Given the description of an element on the screen output the (x, y) to click on. 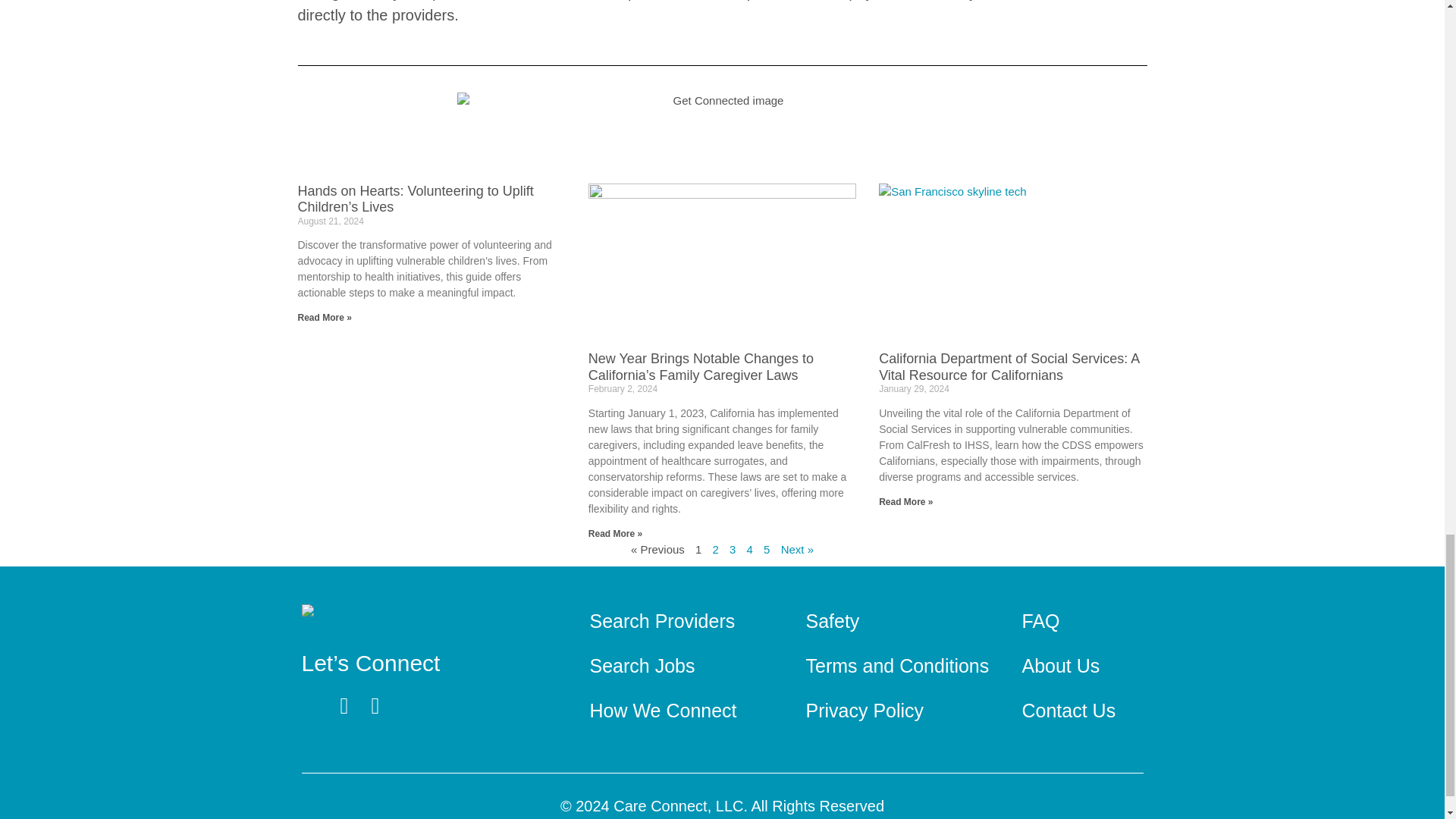
Contact Us (1068, 709)
About Us (1060, 664)
How We Connect (662, 709)
Search Providers (662, 619)
Terms and Conditions (896, 664)
FAQ (1040, 619)
Search Jobs (641, 664)
Safety (832, 619)
Privacy Policy (864, 709)
